Given the description of an element on the screen output the (x, y) to click on. 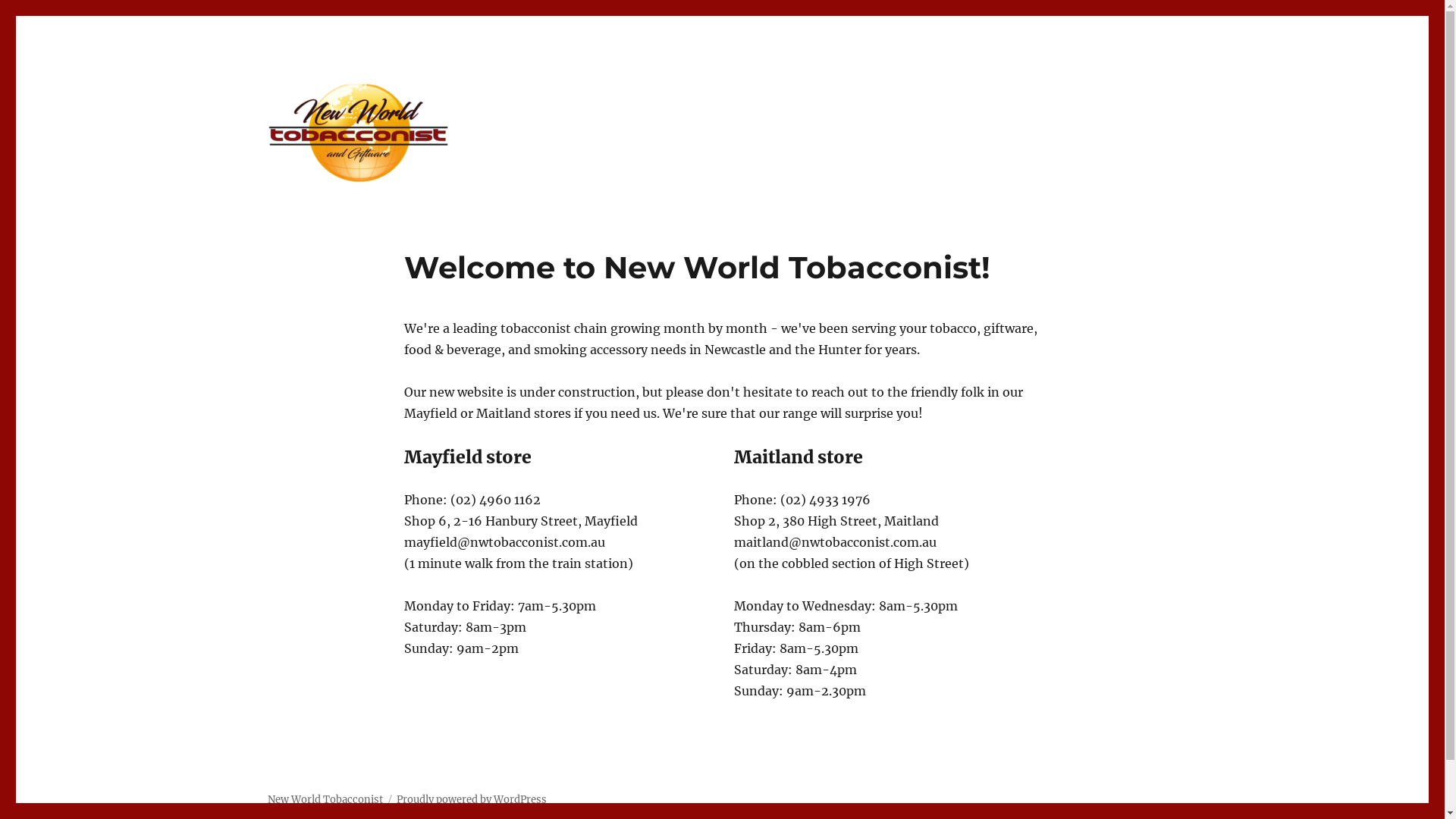
New World Tobacconist Element type: text (397, 208)
New World Tobacconist Element type: text (324, 799)
Proudly powered by WordPress Element type: text (470, 799)
